Given the description of an element on the screen output the (x, y) to click on. 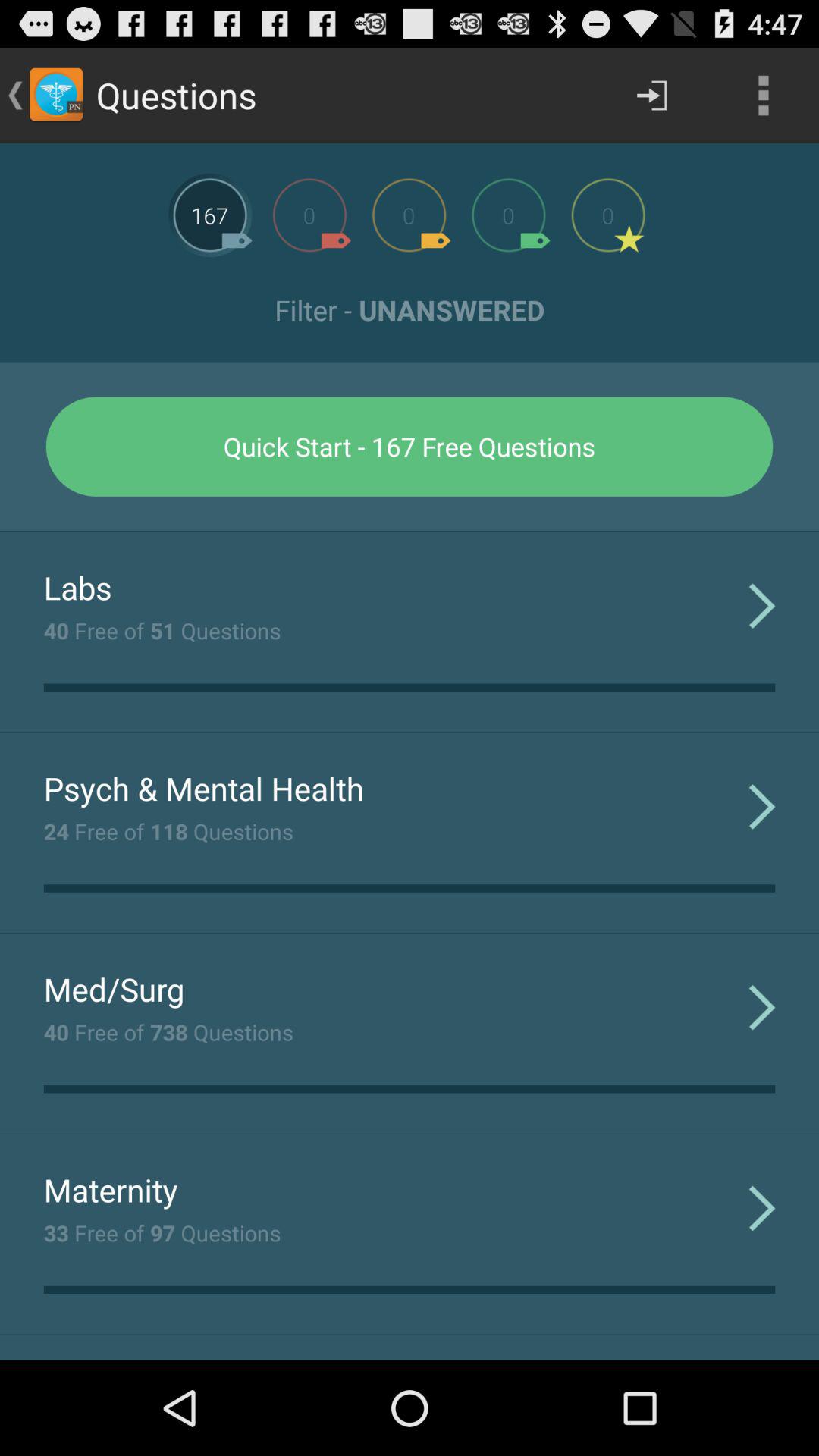
go to fourth list of questions (508, 215)
